Given the description of an element on the screen output the (x, y) to click on. 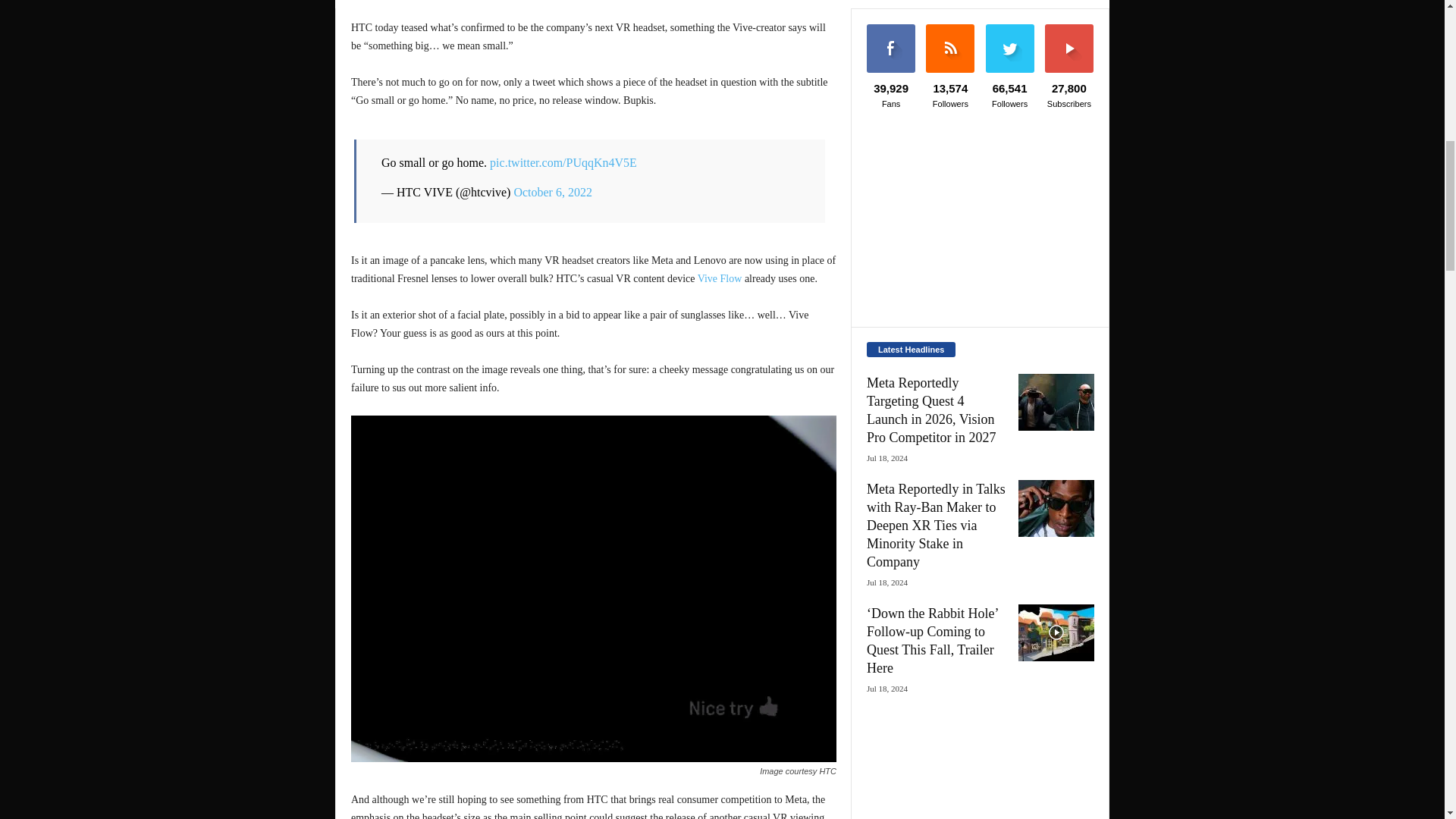
October 6, 2022 (552, 192)
Vive Flow  (720, 278)
